Given the description of an element on the screen output the (x, y) to click on. 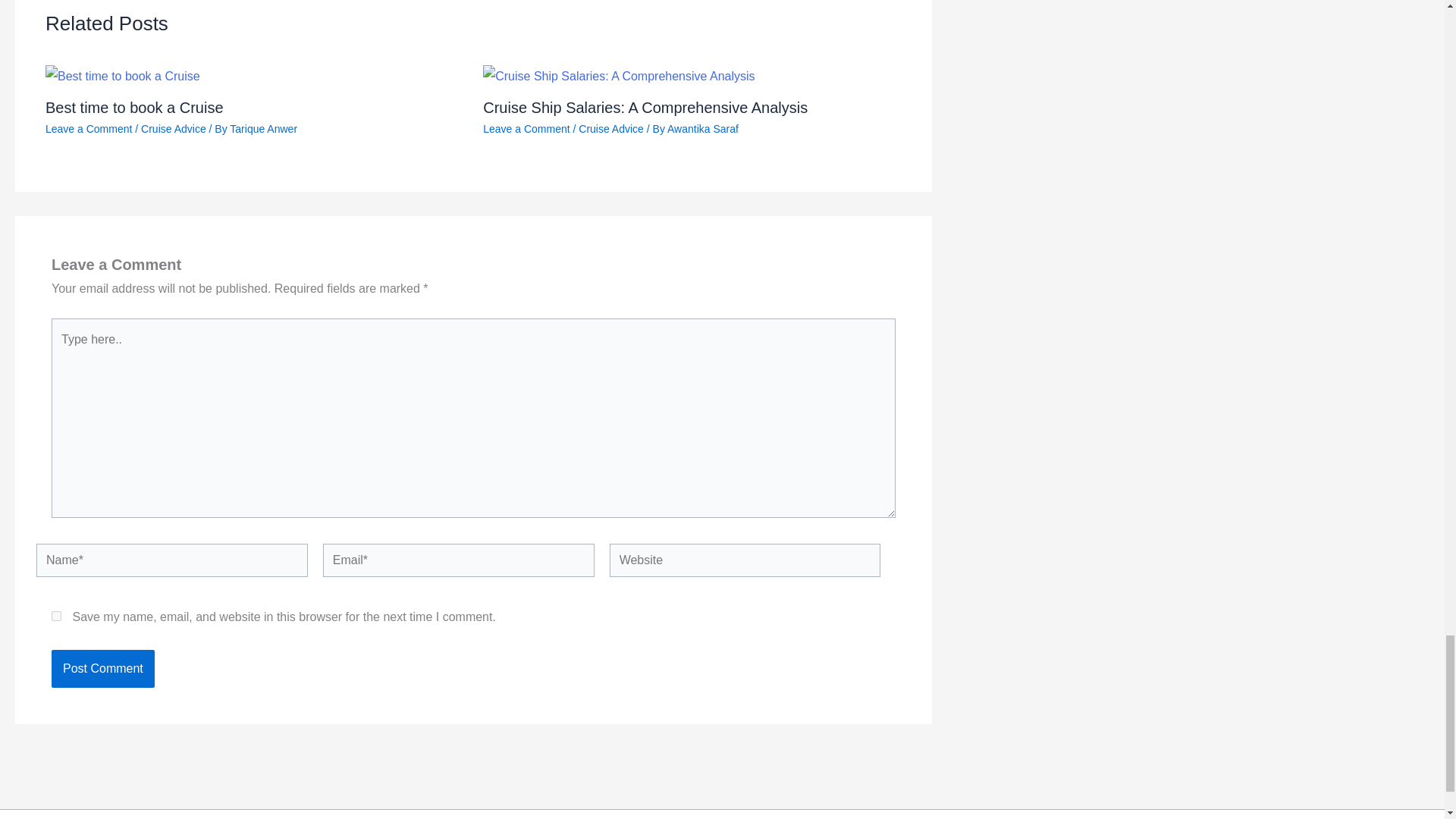
Post Comment (102, 668)
Leave a Comment (526, 128)
Cruise Advice (173, 128)
Tarique Anwer (263, 128)
Awantika Saraf (702, 128)
View all posts by Tarique Anwer (263, 128)
Cruise Ship Salaries: A Comprehensive Analysis (645, 106)
Cruise Advice (610, 128)
View all posts by Awantika Saraf (702, 128)
Post Comment (102, 668)
yes (55, 615)
Leave a Comment (88, 128)
Best time to book a Cruise (134, 106)
